Given the description of an element on the screen output the (x, y) to click on. 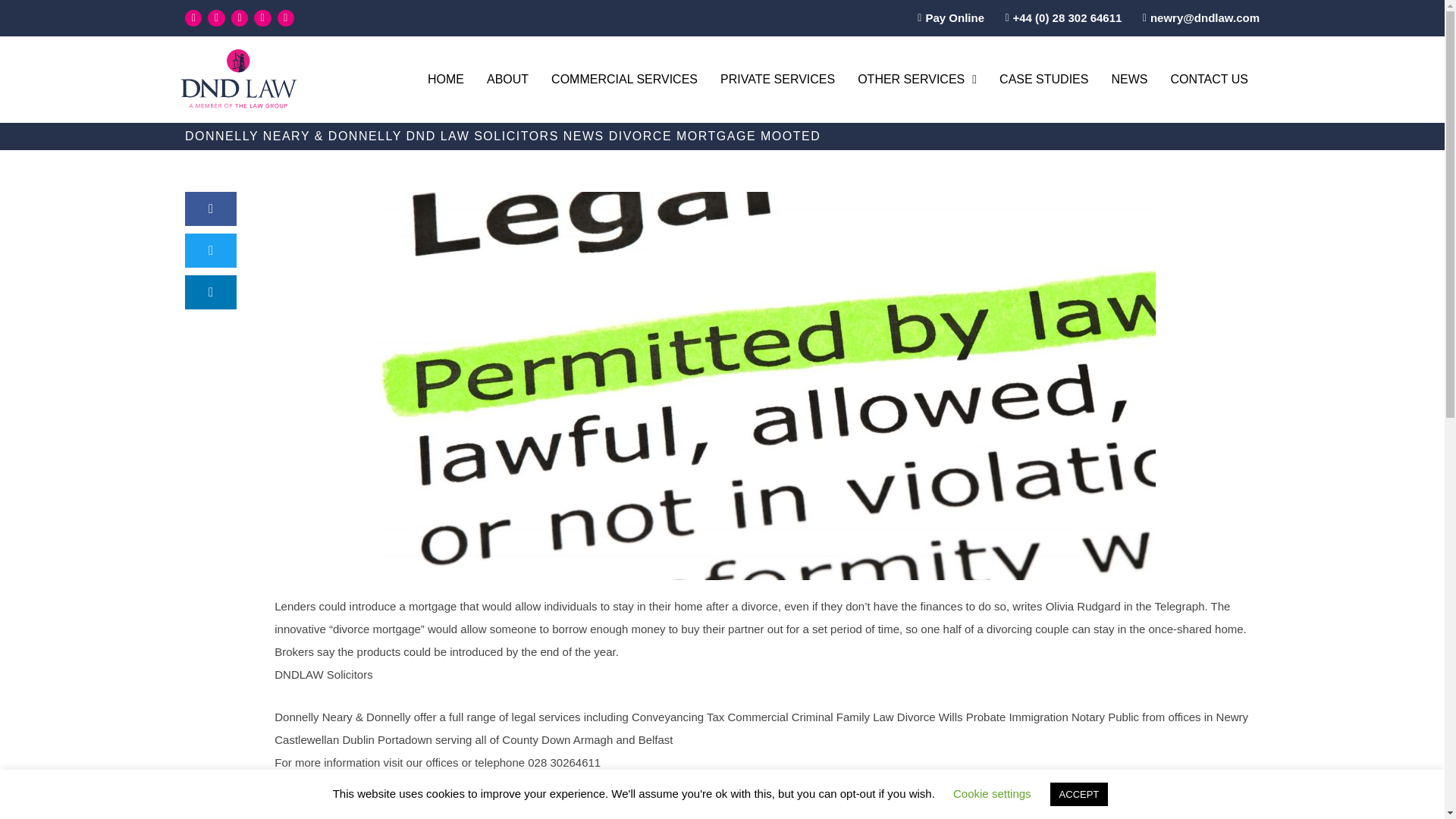
Pay Online (946, 17)
OTHER SERVICES (916, 79)
HOME (446, 79)
NEWS (1128, 79)
CONTACT US (1208, 79)
CASE STUDIES (1043, 79)
COMMERCIAL SERVICES (624, 79)
ABOUT (508, 79)
PRIVATE SERVICES (777, 79)
